Given the description of an element on the screen output the (x, y) to click on. 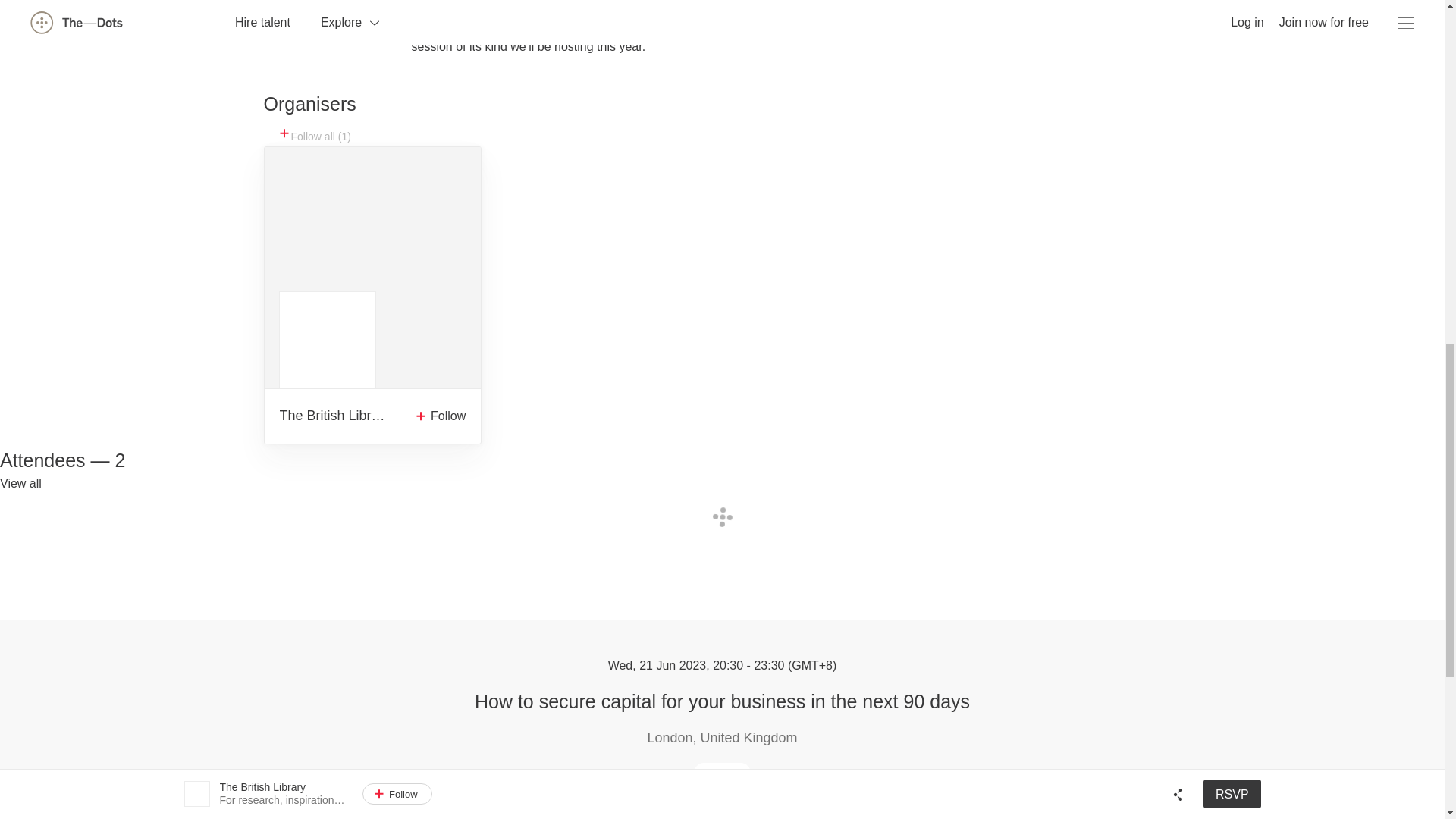
View all (21, 483)
Follow (437, 416)
The British Library (334, 416)
RSVP (721, 772)
